Given the description of an element on the screen output the (x, y) to click on. 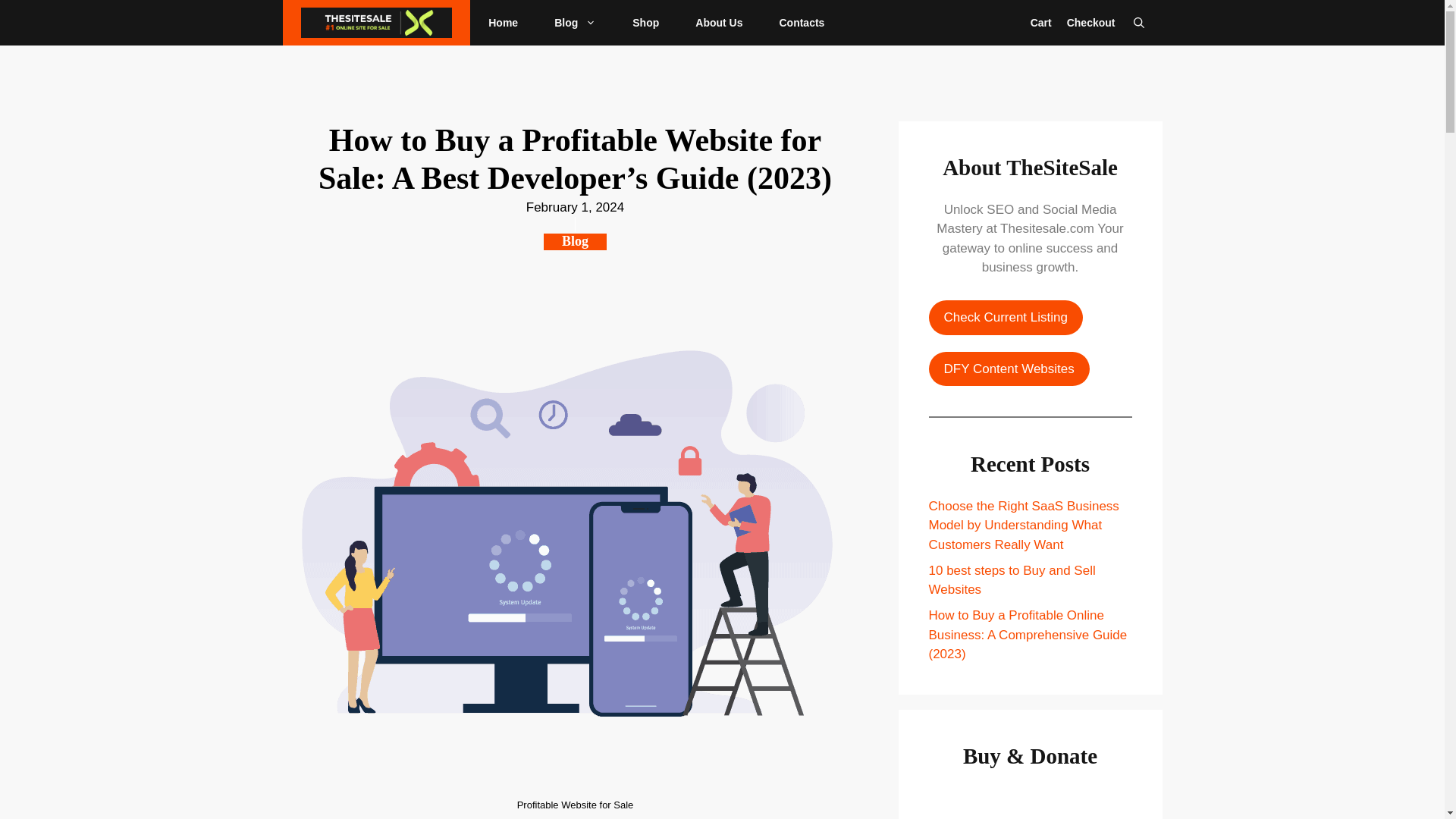
TheSiteSale (375, 22)
Contacts (801, 22)
DFY Content Websites (1008, 369)
Shop (645, 22)
Blog (574, 22)
10 best steps to Buy and Sell Websites (1011, 580)
Cart (1040, 23)
80.Post-3 (1029, 803)
Check Current Listing (1004, 317)
